Given the description of an element on the screen output the (x, y) to click on. 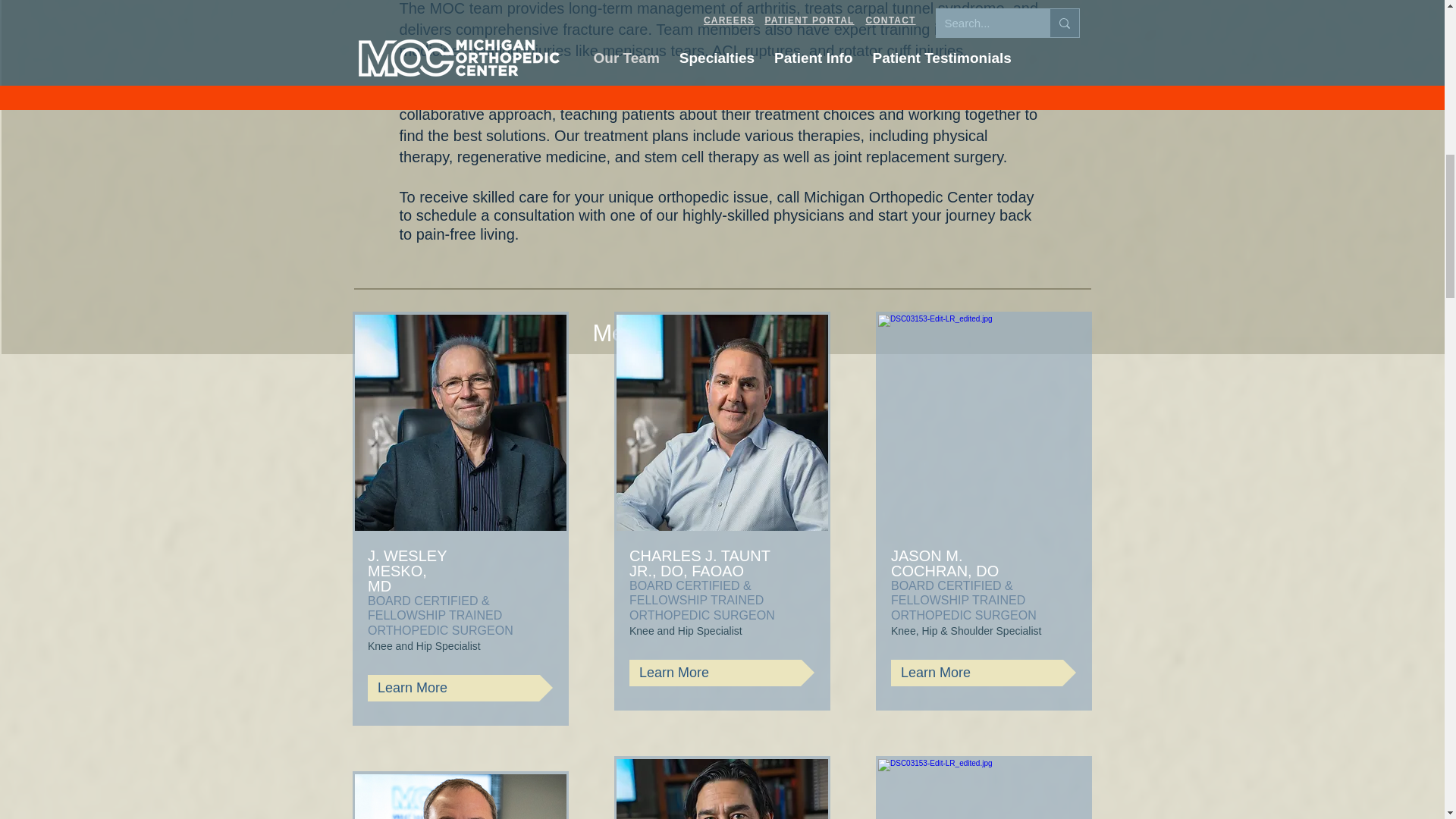
Learn More (460, 687)
D Mesko.jpeg (983, 789)
Noud.jpeg (721, 789)
JW Mesko.jpeg (460, 422)
Learn More (720, 673)
Taunt.jpeg (721, 422)
Cochran.jpeg (983, 422)
